Given the description of an element on the screen output the (x, y) to click on. 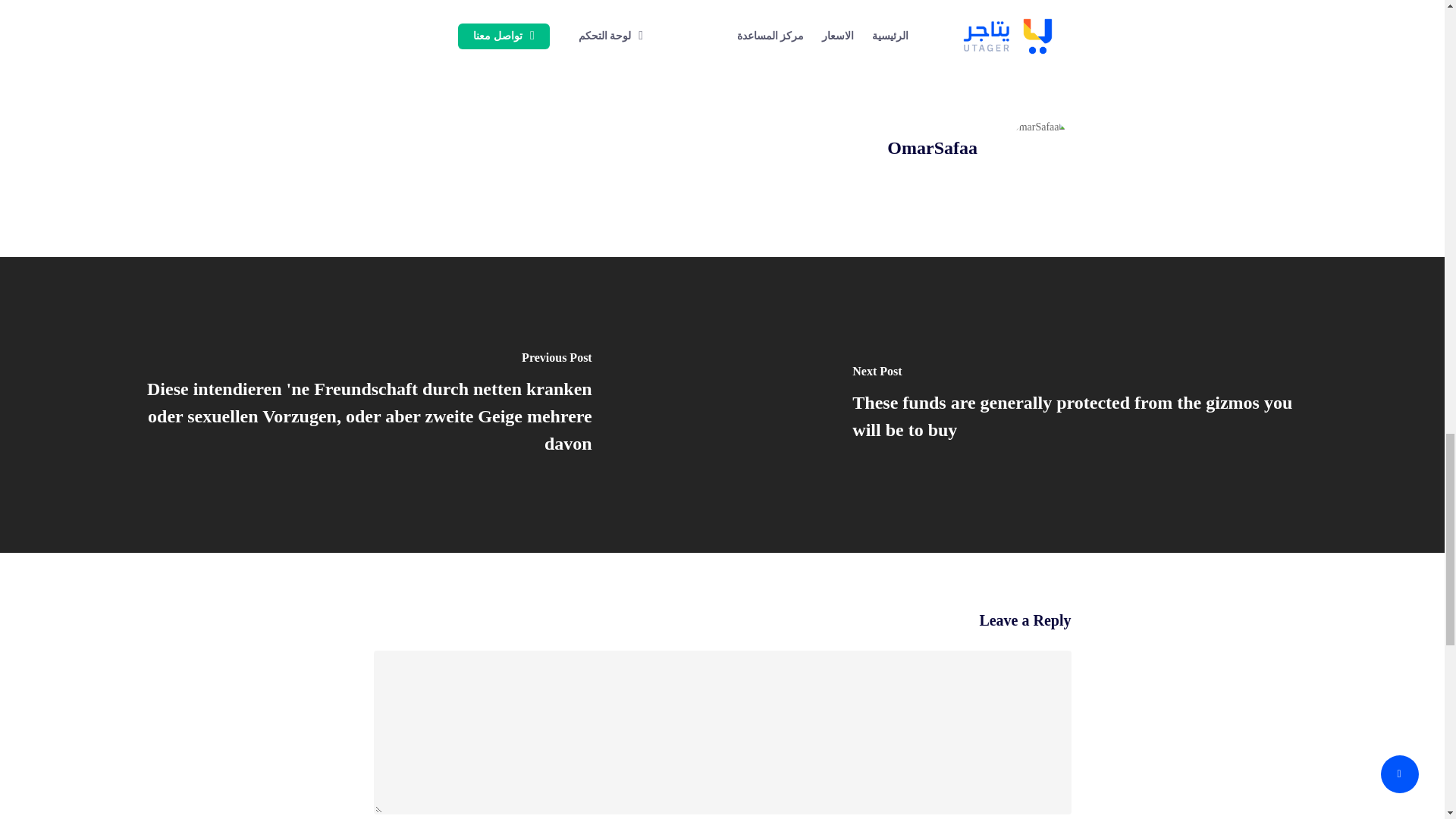
OmarSafaa (931, 148)
